Given the description of an element on the screen output the (x, y) to click on. 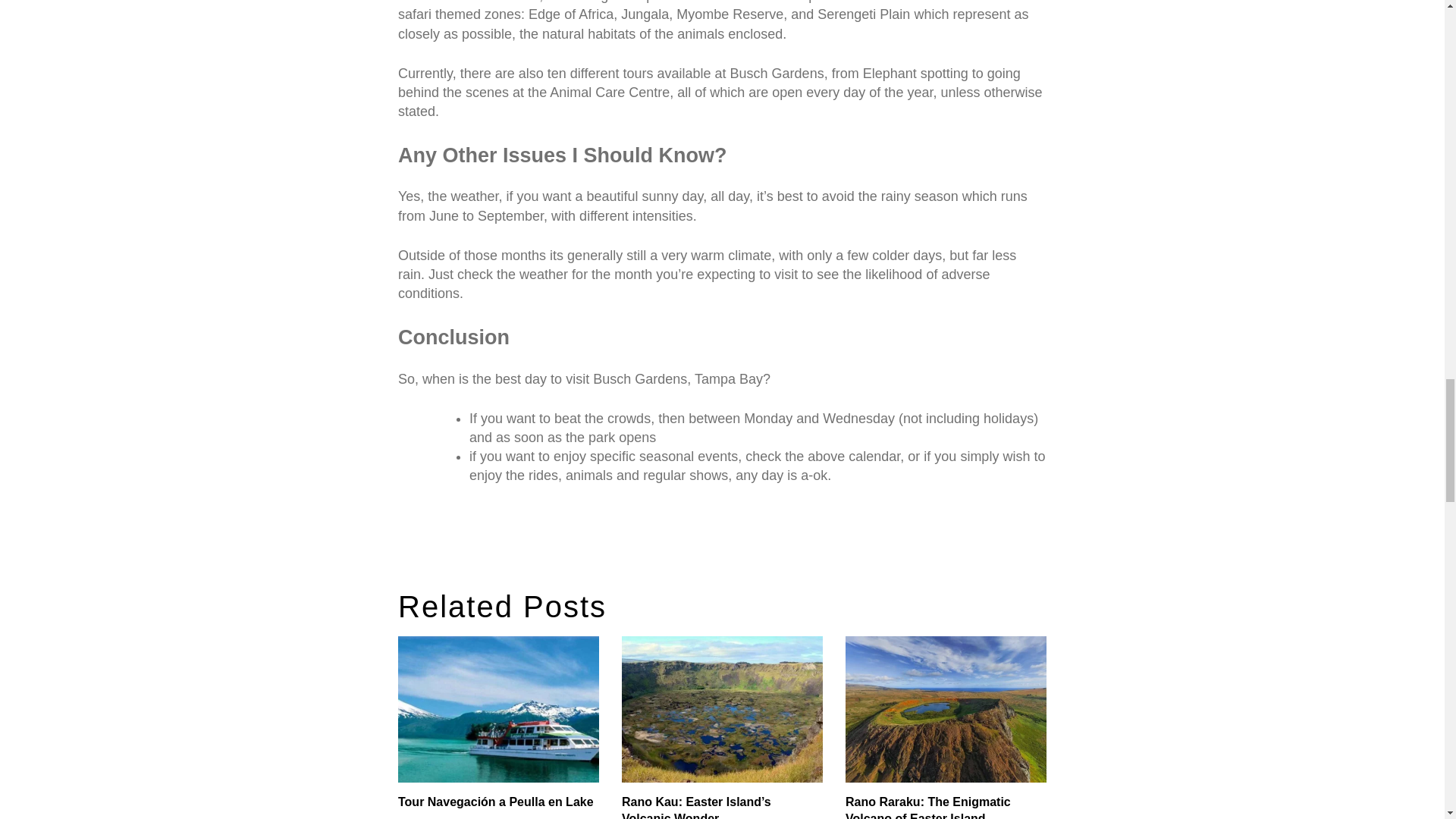
Rano Raraku: The Enigmatic Volcano of Easter Island (945, 806)
Rano Raraku: The Enigmatic Volcano of Easter Island (945, 806)
